Given the description of an element on the screen output the (x, y) to click on. 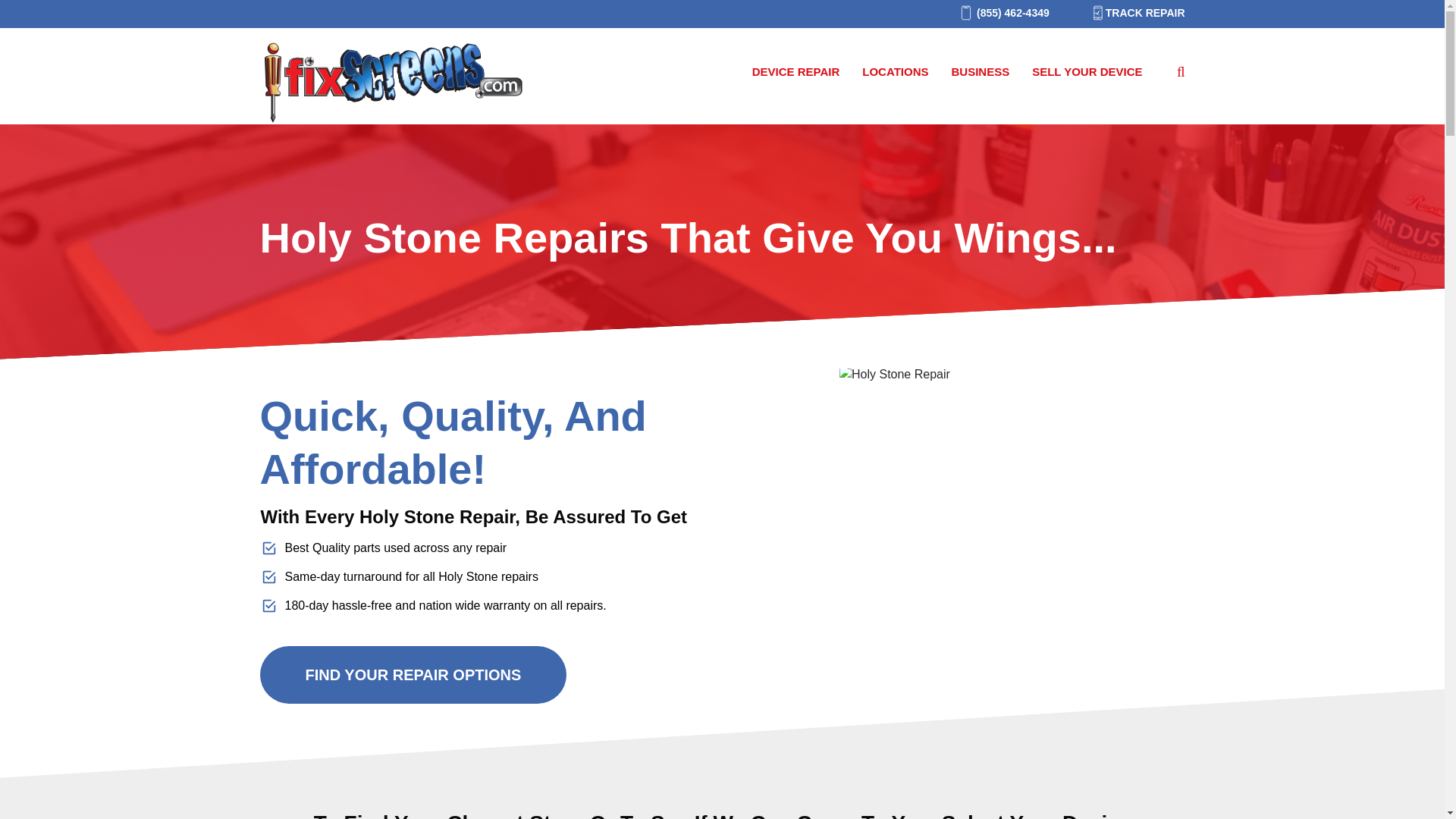
FIND YOUR REPAIR OPTIONS (412, 674)
Holy-Stone (1012, 538)
SELL YOUR DEVICE (1086, 71)
Search (34, 15)
Search for: (1175, 71)
BUSINESS (979, 71)
TRACK REPAIR (1131, 13)
DEVICE REPAIR (796, 71)
LOCATIONS (894, 71)
